Given the description of an element on the screen output the (x, y) to click on. 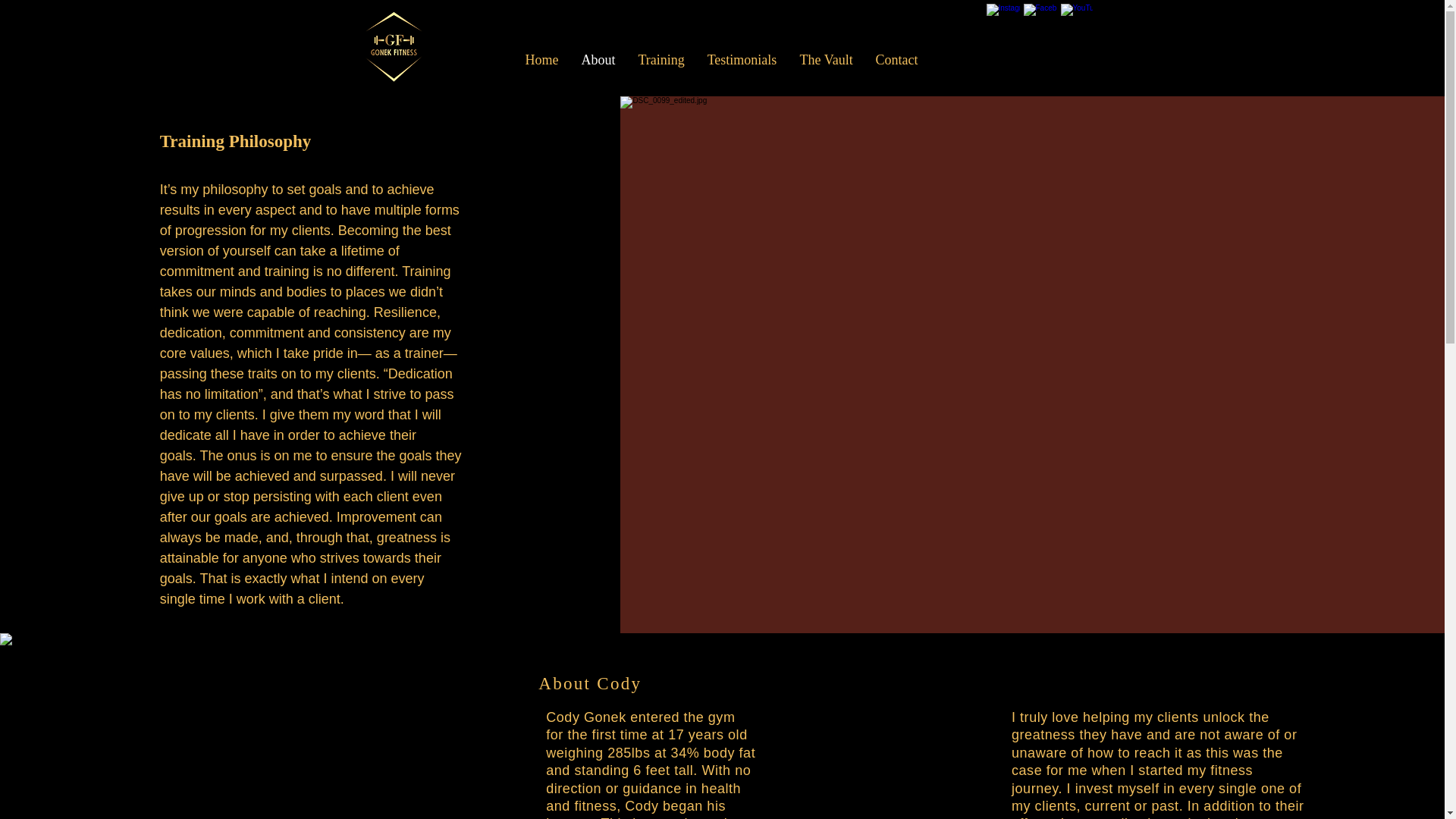
Home (541, 59)
The Vault (826, 59)
Training (660, 59)
Contact (897, 59)
About (598, 59)
Testimonials (742, 59)
